Given the description of an element on the screen output the (x, y) to click on. 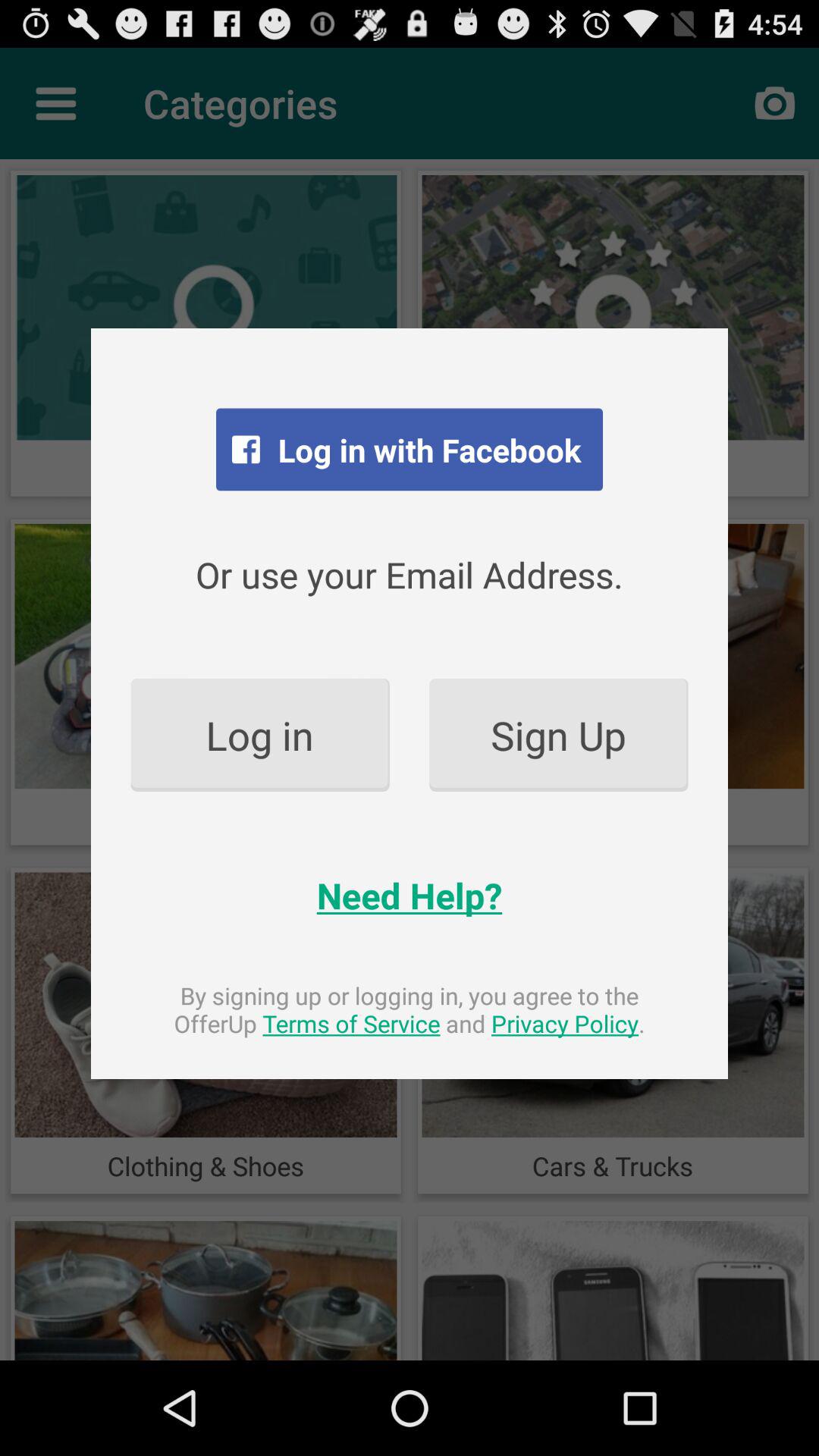
select the app below or use your (558, 734)
